Given the description of an element on the screen output the (x, y) to click on. 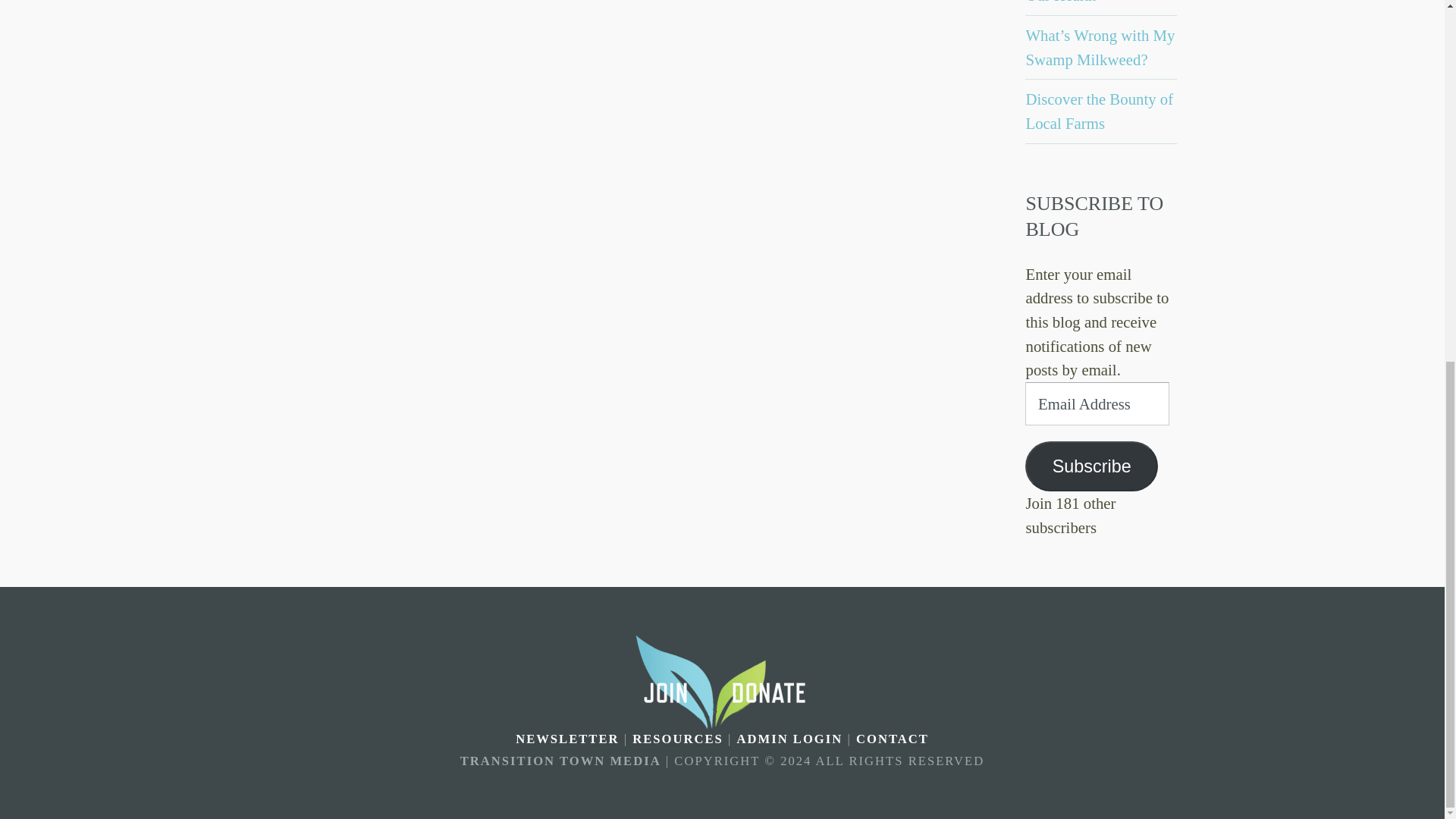
RESOURCES (677, 739)
NEWSLETTER (566, 739)
Discover the Bounty of Local Farms (1099, 110)
Subscribe (1091, 466)
The Plastics Threat to Our Health (1094, 2)
CONTACT (892, 739)
ADMIN LOGIN (789, 739)
